Given the description of an element on the screen output the (x, y) to click on. 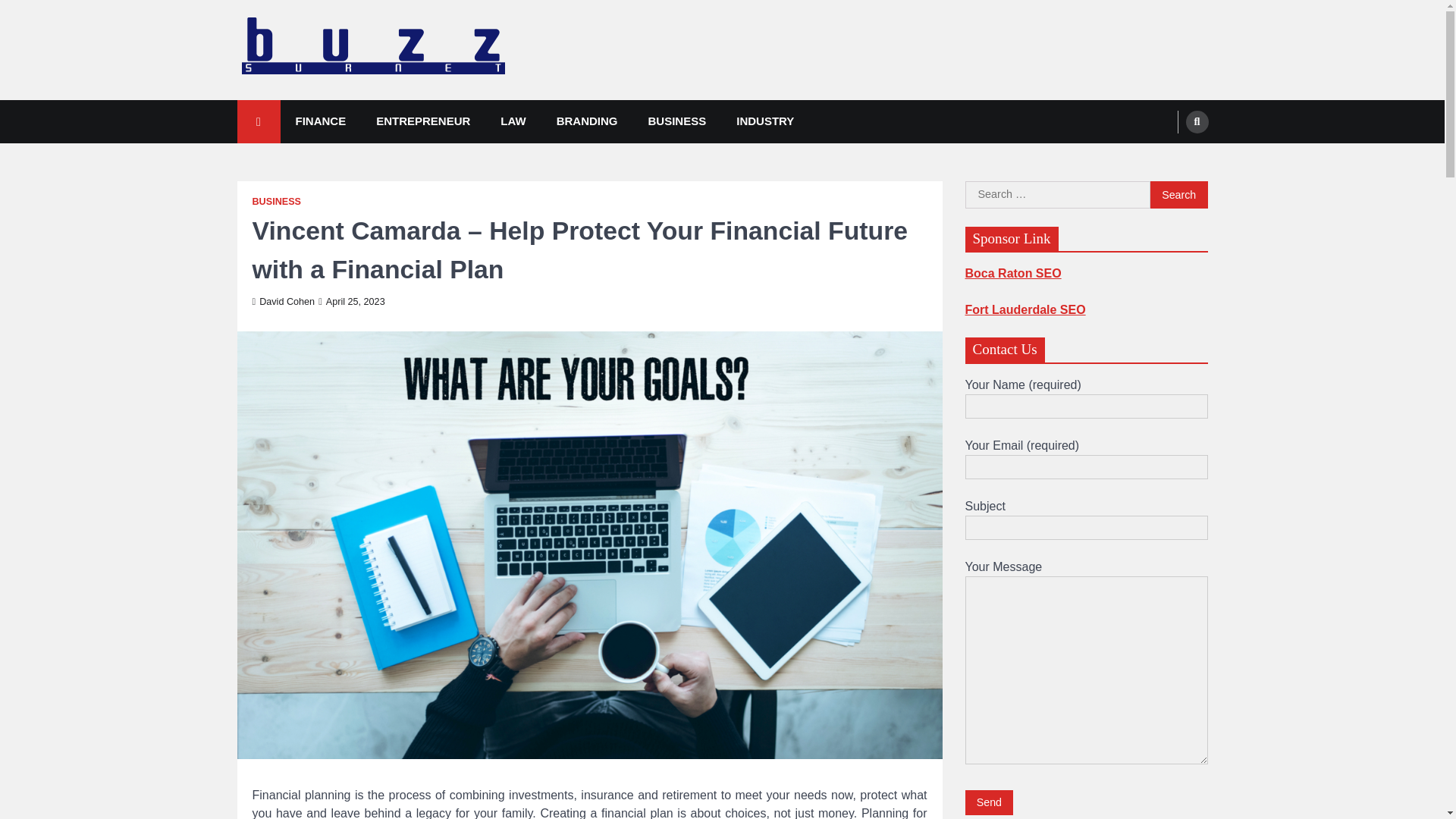
INDUSTRY (764, 121)
Search (1197, 121)
Send (988, 802)
ENTREPRENEUR (422, 121)
LAW (512, 121)
David Cohen (282, 301)
Boca Raton SEO (1012, 273)
BRANDING (587, 121)
Search (1179, 194)
Search (1179, 194)
